Given the description of an element on the screen output the (x, y) to click on. 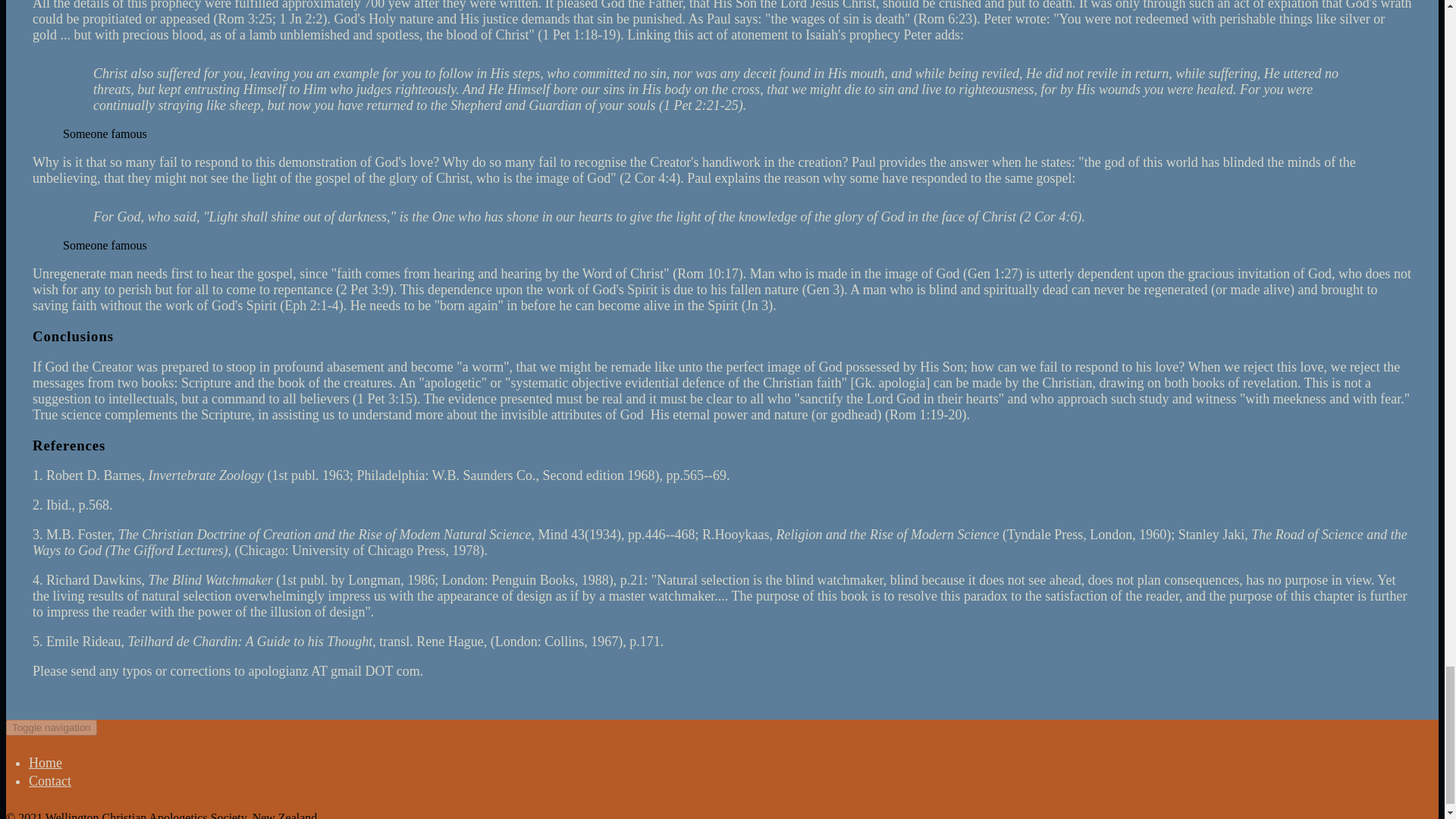
Toggle navigation (51, 727)
Home (45, 762)
Contact (50, 780)
